Given the description of an element on the screen output the (x, y) to click on. 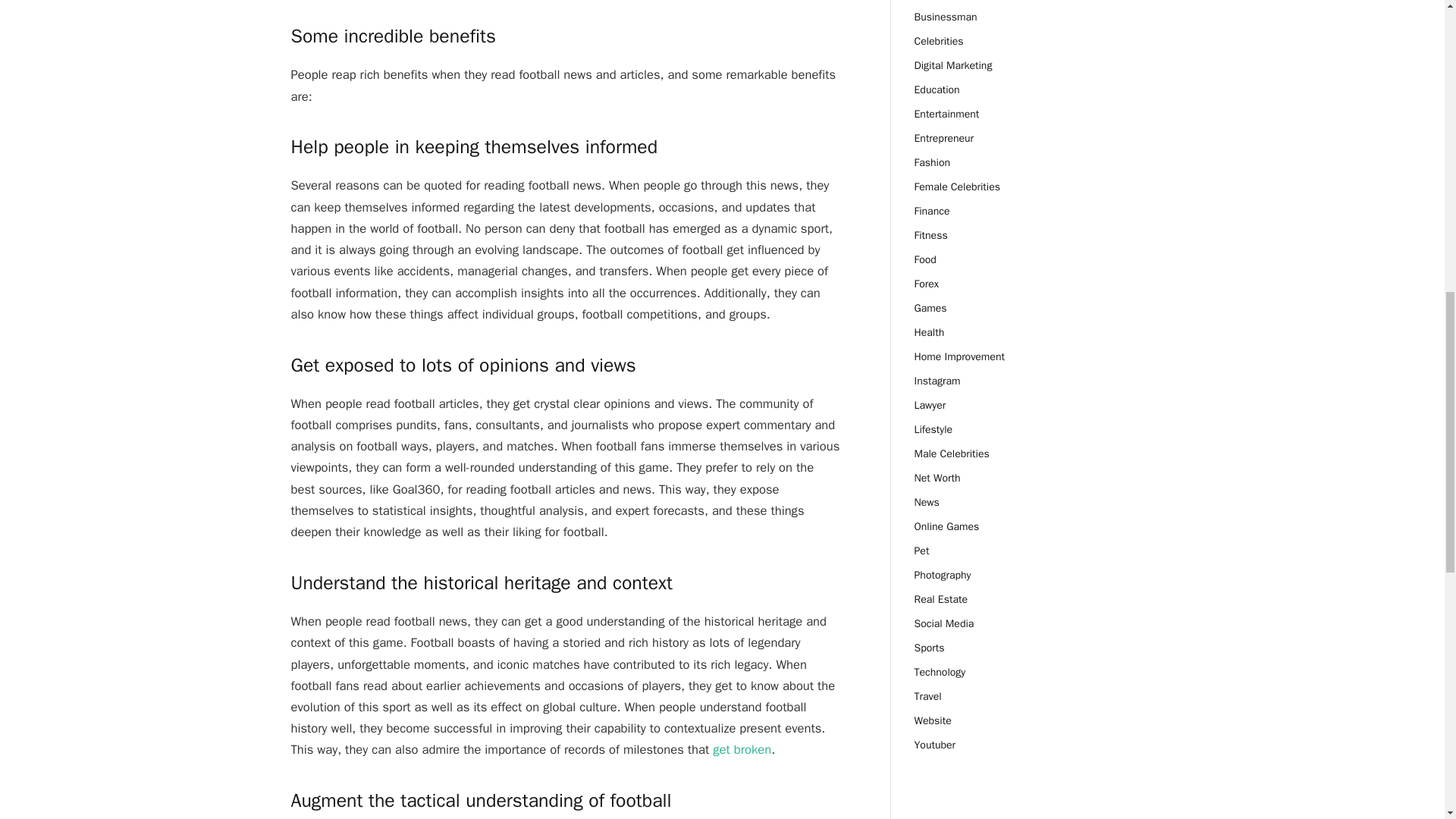
get broken (742, 749)
